Given the description of an element on the screen output the (x, y) to click on. 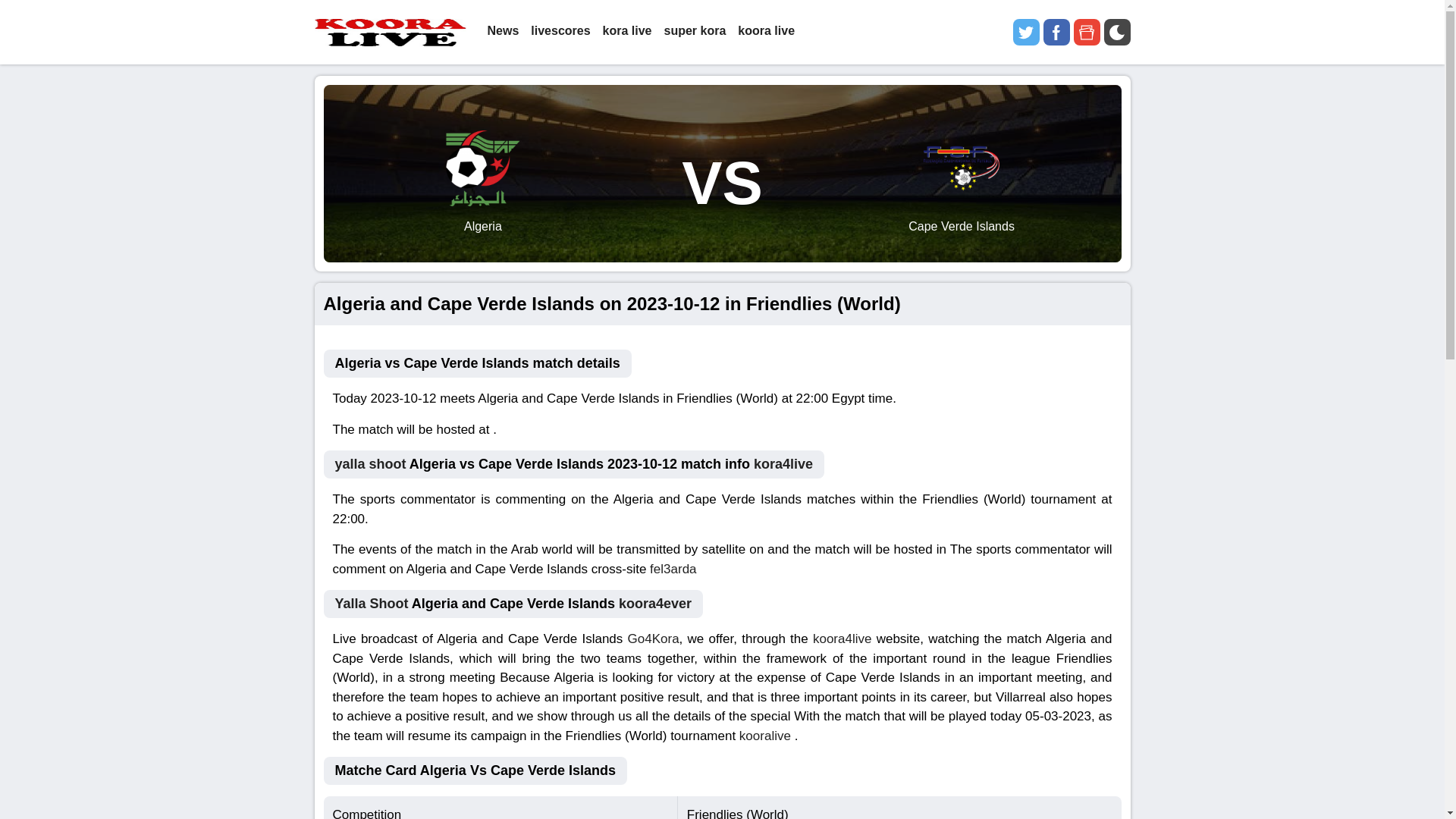
yalla shoot (370, 463)
fel3arda (672, 568)
koora live (766, 31)
super kora (695, 31)
koora live English Free Live Sports Stream livekora (389, 32)
kora live (627, 31)
Go4Kora (653, 638)
koora4live (842, 638)
Yalla Shoot (371, 603)
livescores (559, 31)
koora4ever (654, 603)
kora4live (783, 463)
kooralive (764, 735)
